Given the description of an element on the screen output the (x, y) to click on. 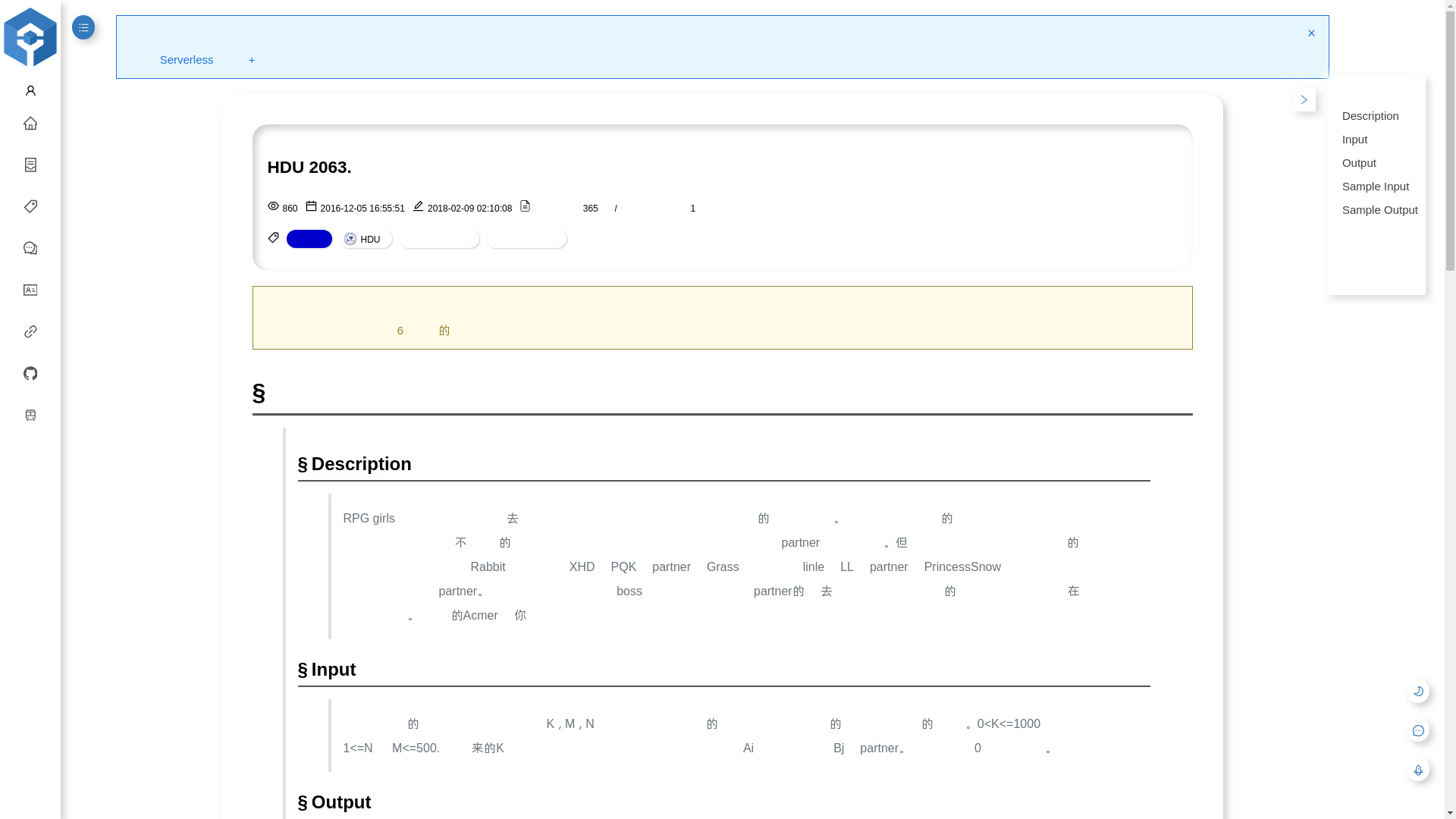
HDU Element type: text (364, 238)
Sample Output Element type: text (1376, 208)
Sample Input Element type: text (1376, 185)
Output Element type: text (1376, 161)
Input Element type: text (1376, 138)
Github:OhYee Element type: text (30, 375)
Description Element type: text (1376, 114)
